Given the description of an element on the screen output the (x, y) to click on. 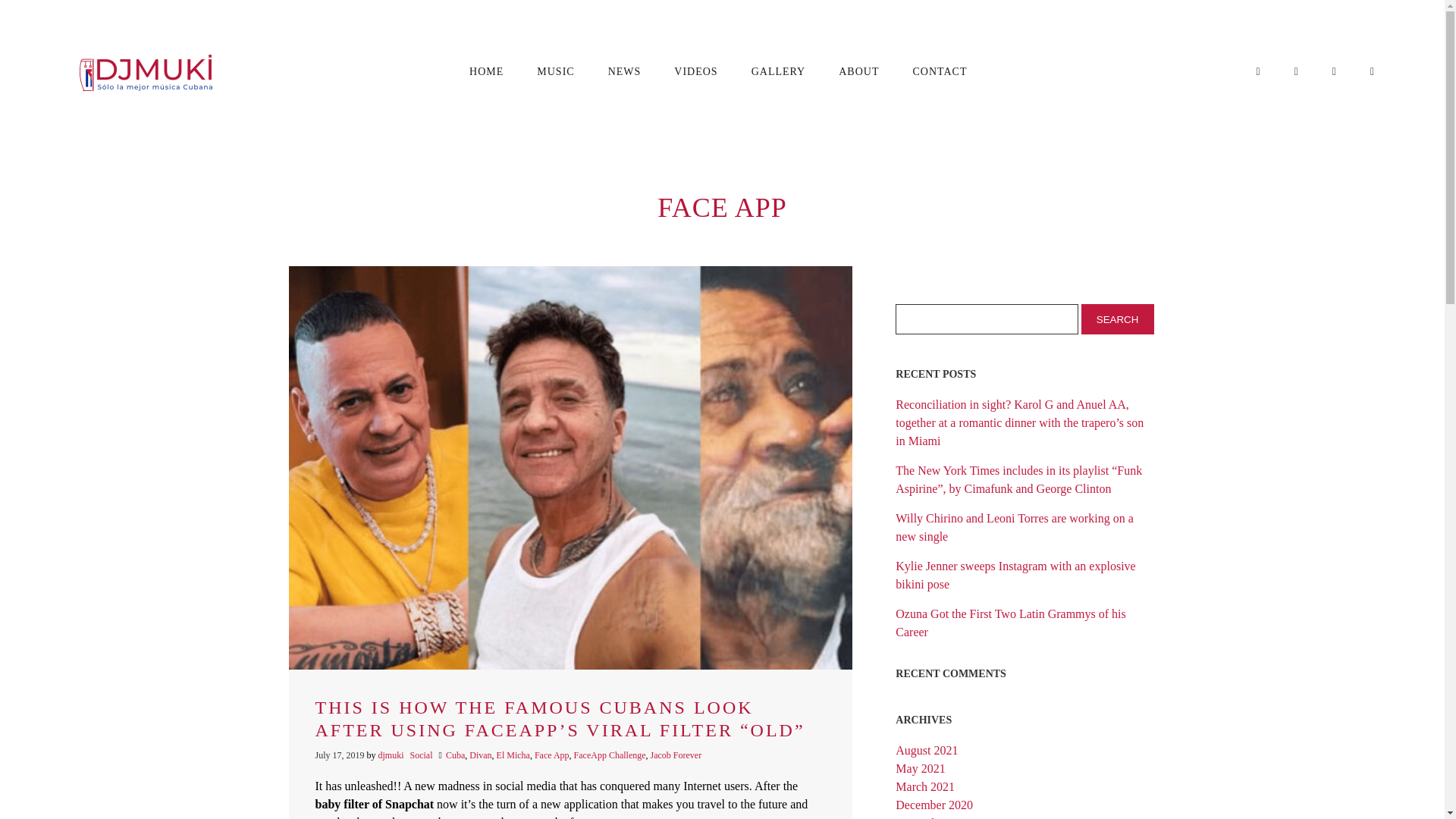
July 17, 2019 (340, 755)
March 2021 (925, 786)
November 2020 (934, 817)
HOME (486, 71)
Search (1117, 318)
El Micha (512, 754)
Search (1117, 318)
ABOUT (858, 71)
FaceApp Challenge (609, 754)
CONTACT (938, 71)
